Given the description of an element on the screen output the (x, y) to click on. 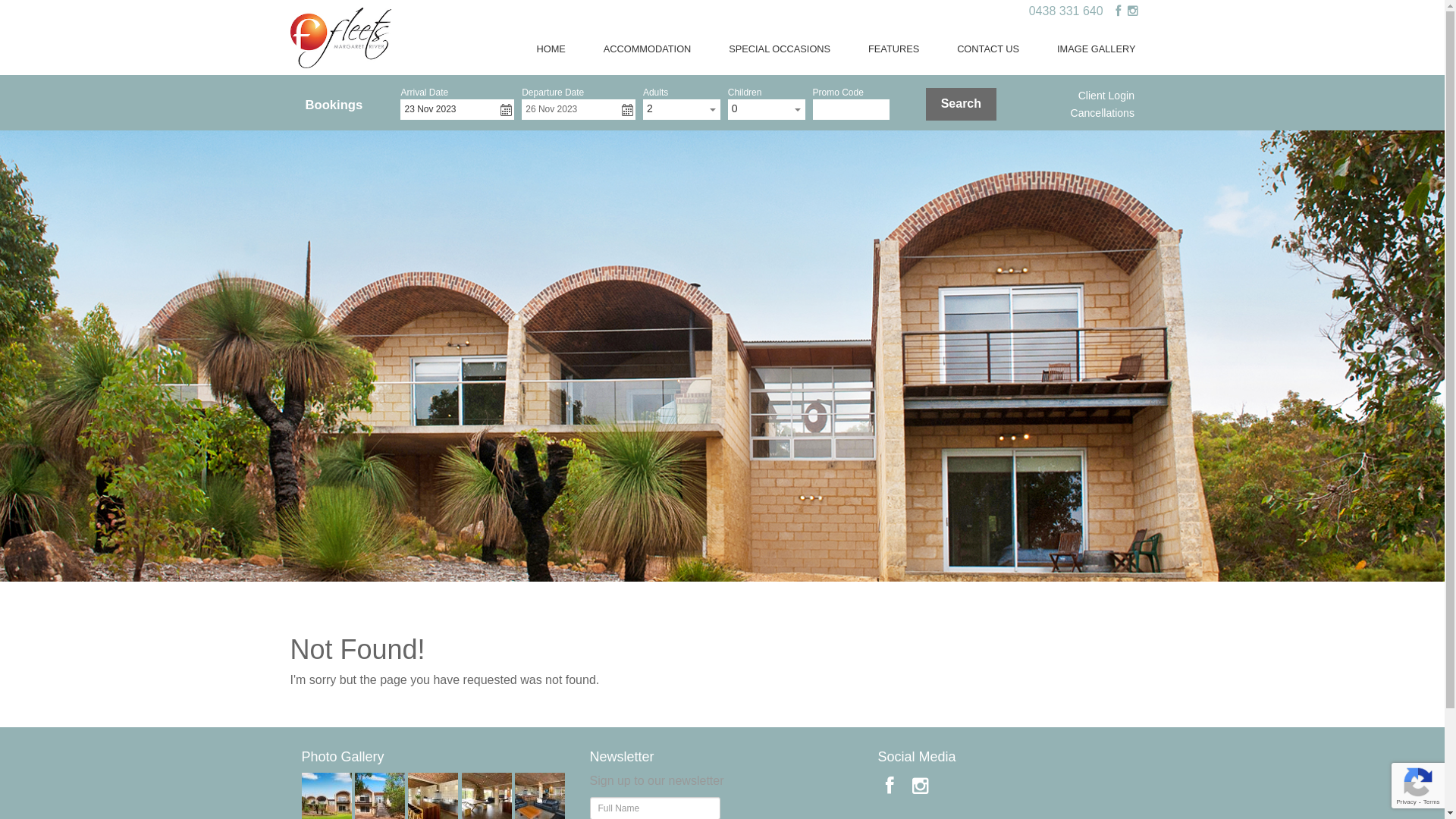
SPECIAL OCCASIONS Element type: text (779, 48)
Instagram Element type: hover (1131, 10)
FEATURES Element type: text (893, 48)
Instagram Element type: hover (920, 785)
HOME Element type: text (550, 48)
Search Element type: text (960, 103)
Cancellations Element type: text (1102, 112)
Facebook Element type: hover (889, 785)
CONTACT US Element type: text (988, 48)
Client Login Element type: text (1106, 95)
Facebook Element type: hover (1117, 10)
IMAGE GALLERY Element type: text (1096, 48)
ACCOMMODATION Element type: text (646, 48)
0438 331 640 Element type: text (1066, 10)
